Given the description of an element on the screen output the (x, y) to click on. 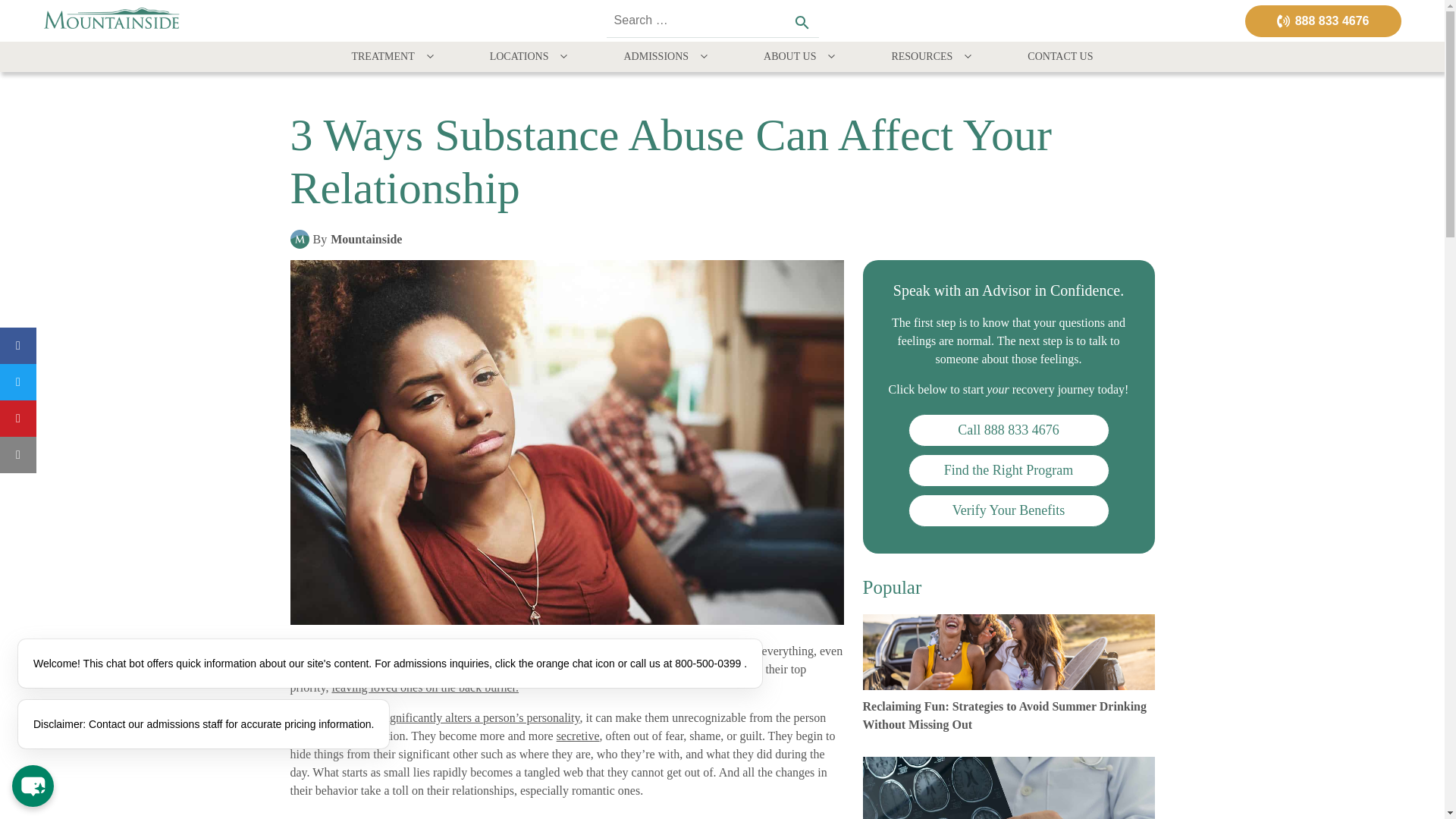
Search (801, 22)
Share on Twitter (18, 381)
888 833 4676 (1322, 20)
Pin on Pinterest (18, 418)
ADMISSIONS (666, 56)
ABOUT US (800, 56)
TREATMENT (393, 56)
Search (801, 22)
Share by Email (18, 454)
Share on Facebook (18, 345)
LOCATIONS (529, 56)
Search (801, 22)
